Given the description of an element on the screen output the (x, y) to click on. 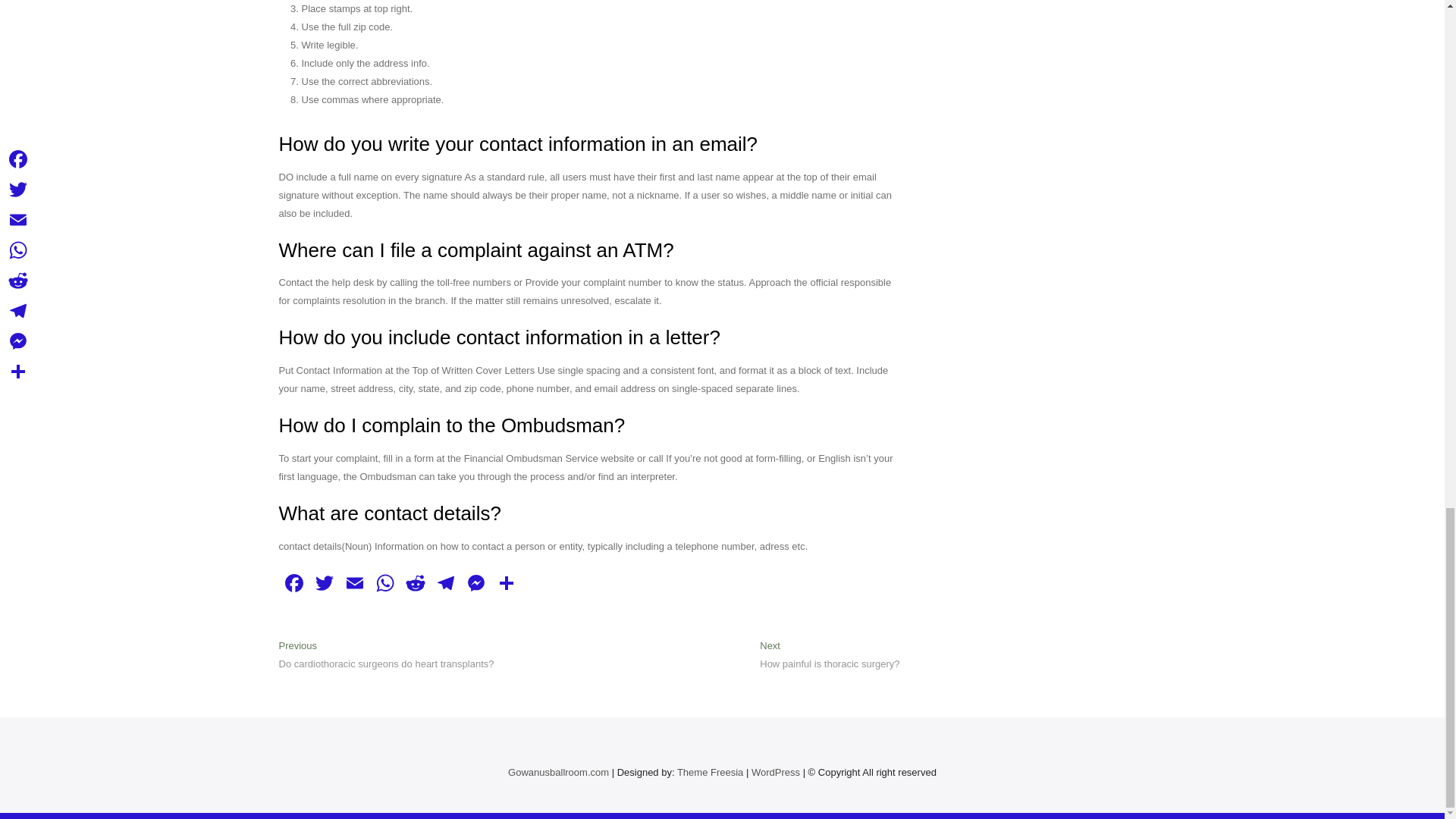
Telegram (445, 584)
Facebook (293, 584)
Reddit (415, 584)
Reddit (415, 584)
Telegram (445, 584)
WhatsApp (384, 584)
WhatsApp (384, 584)
Email (354, 584)
Messenger (476, 584)
Facebook (293, 584)
Messenger (476, 584)
Email (354, 584)
Twitter (323, 584)
